Given the description of an element on the screen output the (x, y) to click on. 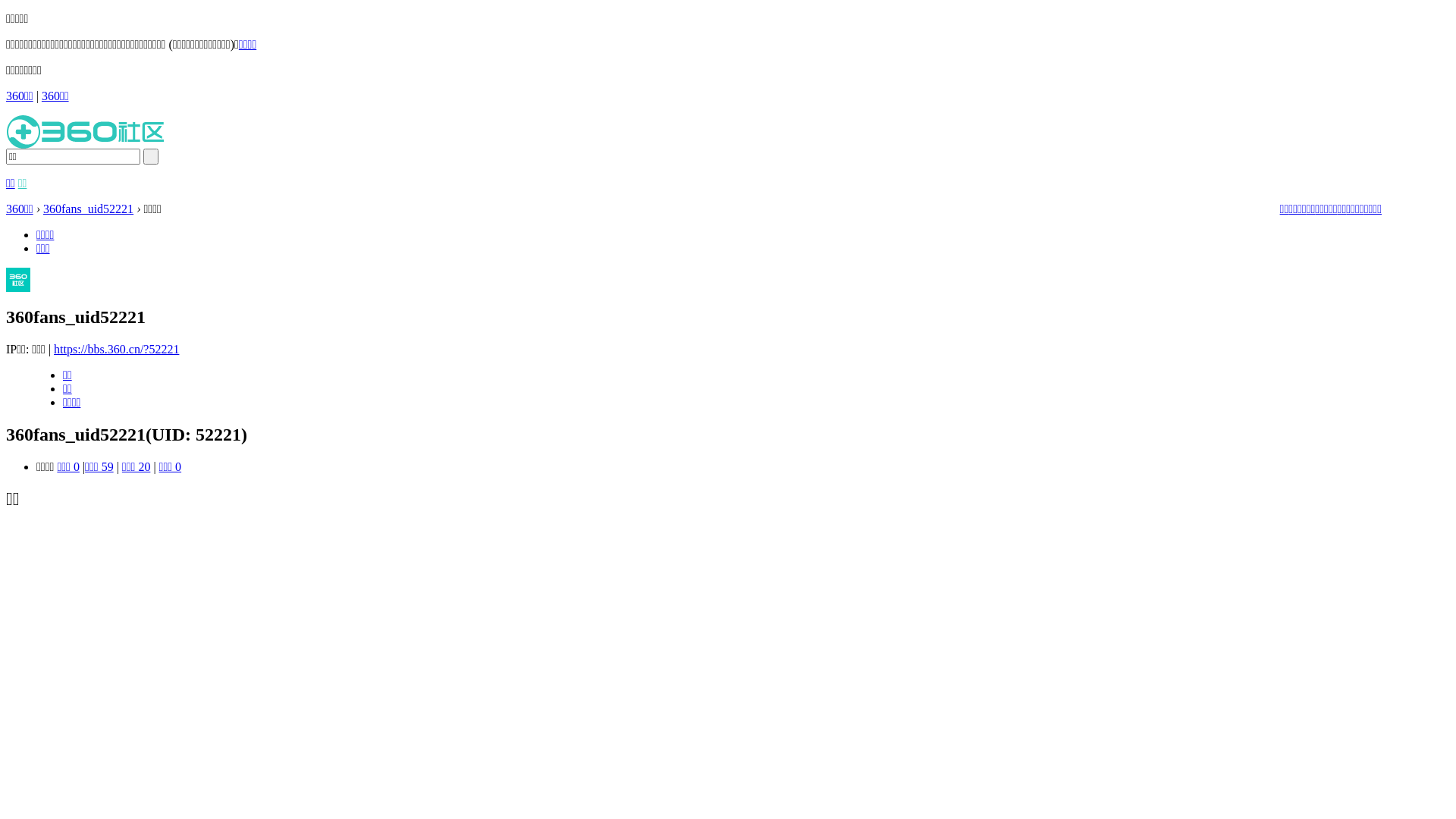
https://bbs.360.cn/?52221 Element type: text (115, 348)
360fans_uid52221 Element type: text (88, 208)
  Element type: text (150, 156)
